Given the description of an element on the screen output the (x, y) to click on. 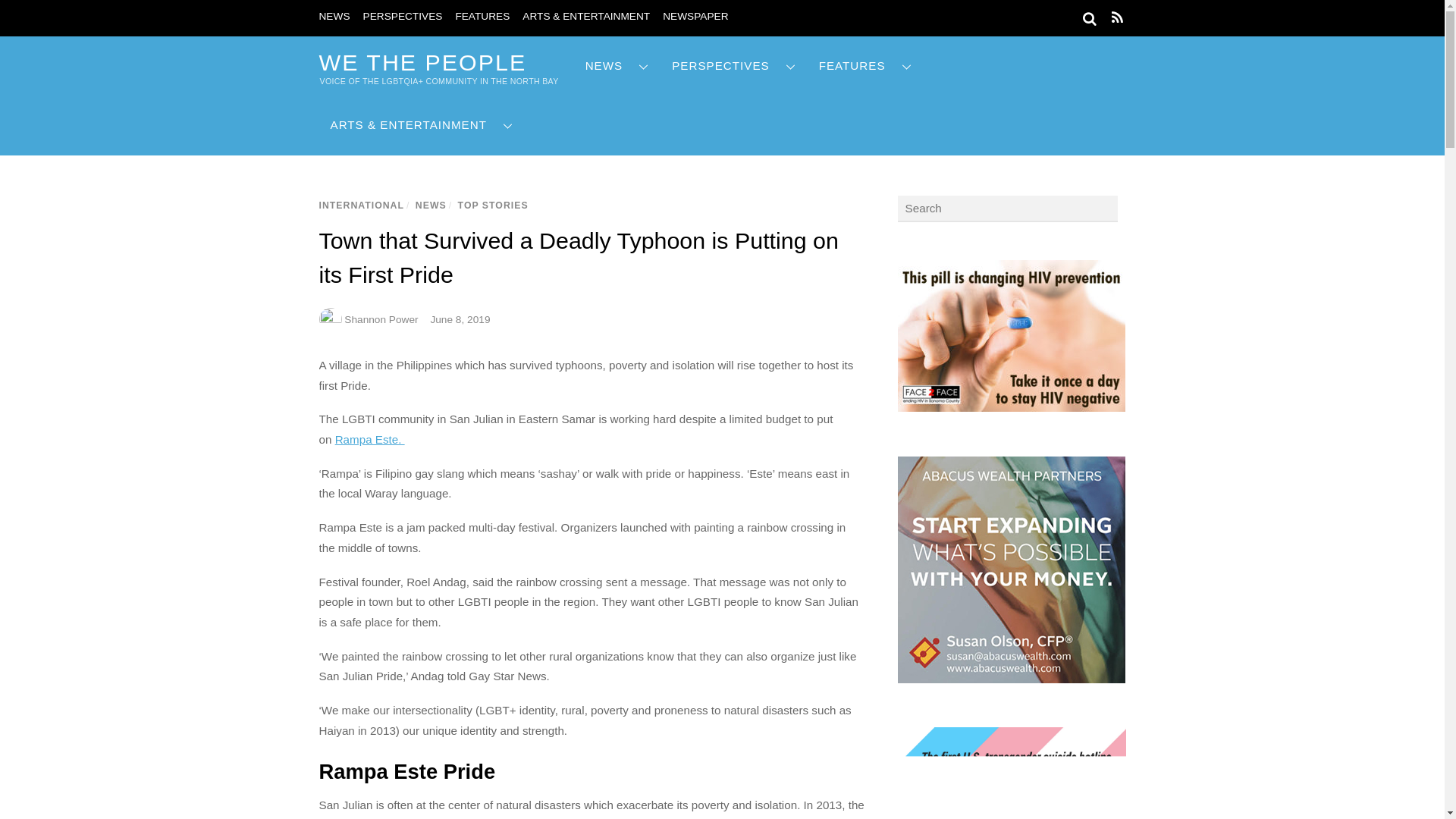
PERSPECTIVES (402, 16)
We The People (421, 62)
WE THE PEOPLE (421, 62)
FEATURES (481, 16)
NEWS (617, 66)
NEWS (333, 16)
NEWSPAPER (695, 16)
